Given the description of an element on the screen output the (x, y) to click on. 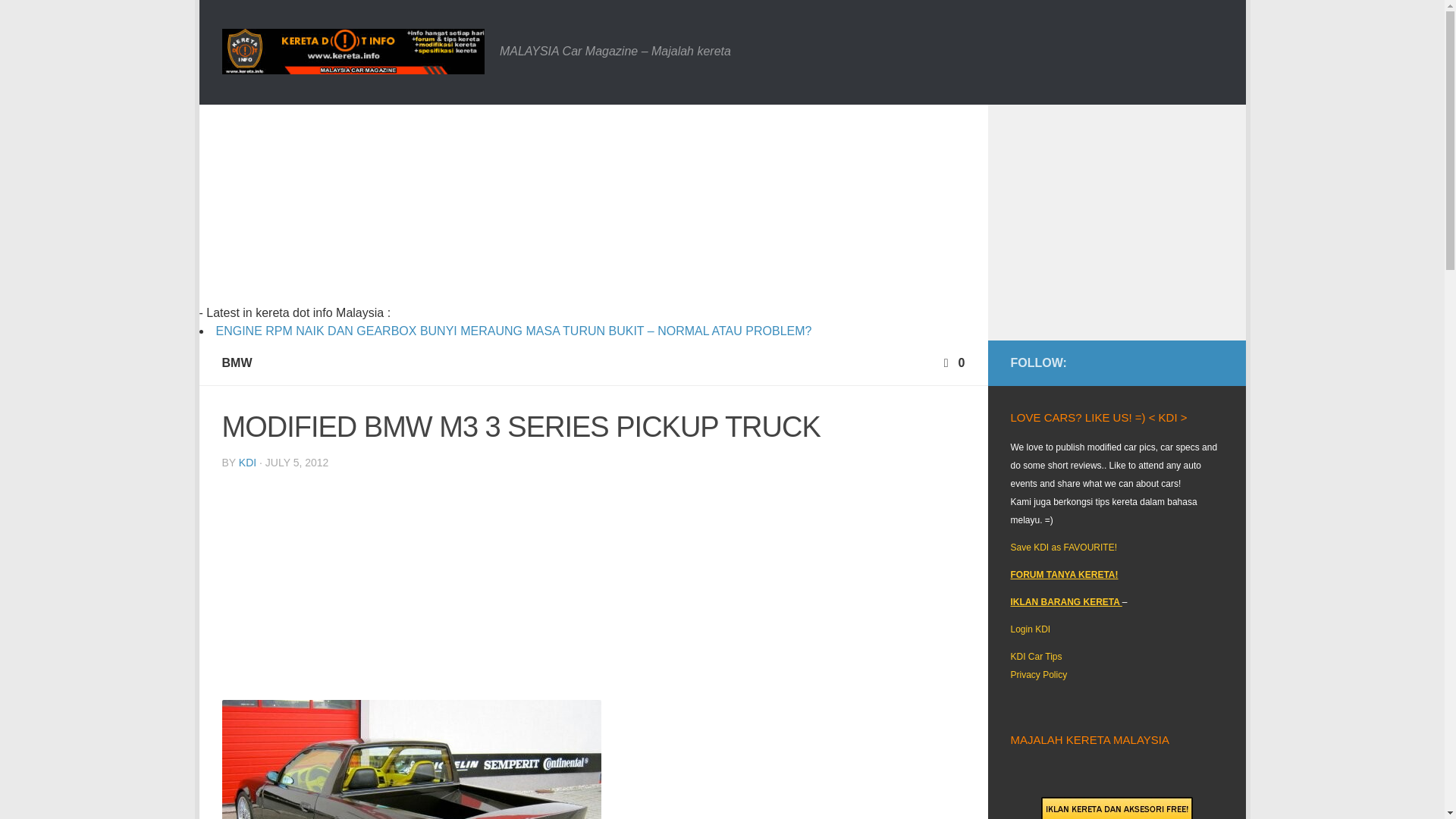
Save KDI as FAVOURITE! (1063, 547)
Advertisement (521, 210)
Posts by kdi (247, 462)
Login KDI (1029, 629)
KDI Car Tips (1035, 656)
IKLAN BARANG KERETA (1065, 602)
BMW (236, 362)
Advertisement (592, 588)
Privacy Policy (1038, 674)
Modified bmw m3 3 series pickup truck e92.jpg (410, 759)
